Given the description of an element on the screen output the (x, y) to click on. 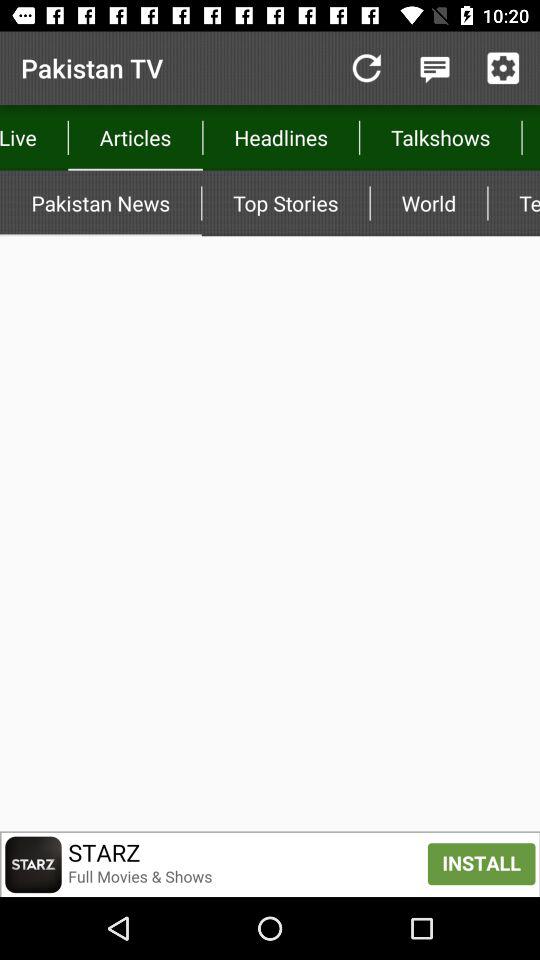
choose app below the pakistan tv app (135, 137)
